Given the description of an element on the screen output the (x, y) to click on. 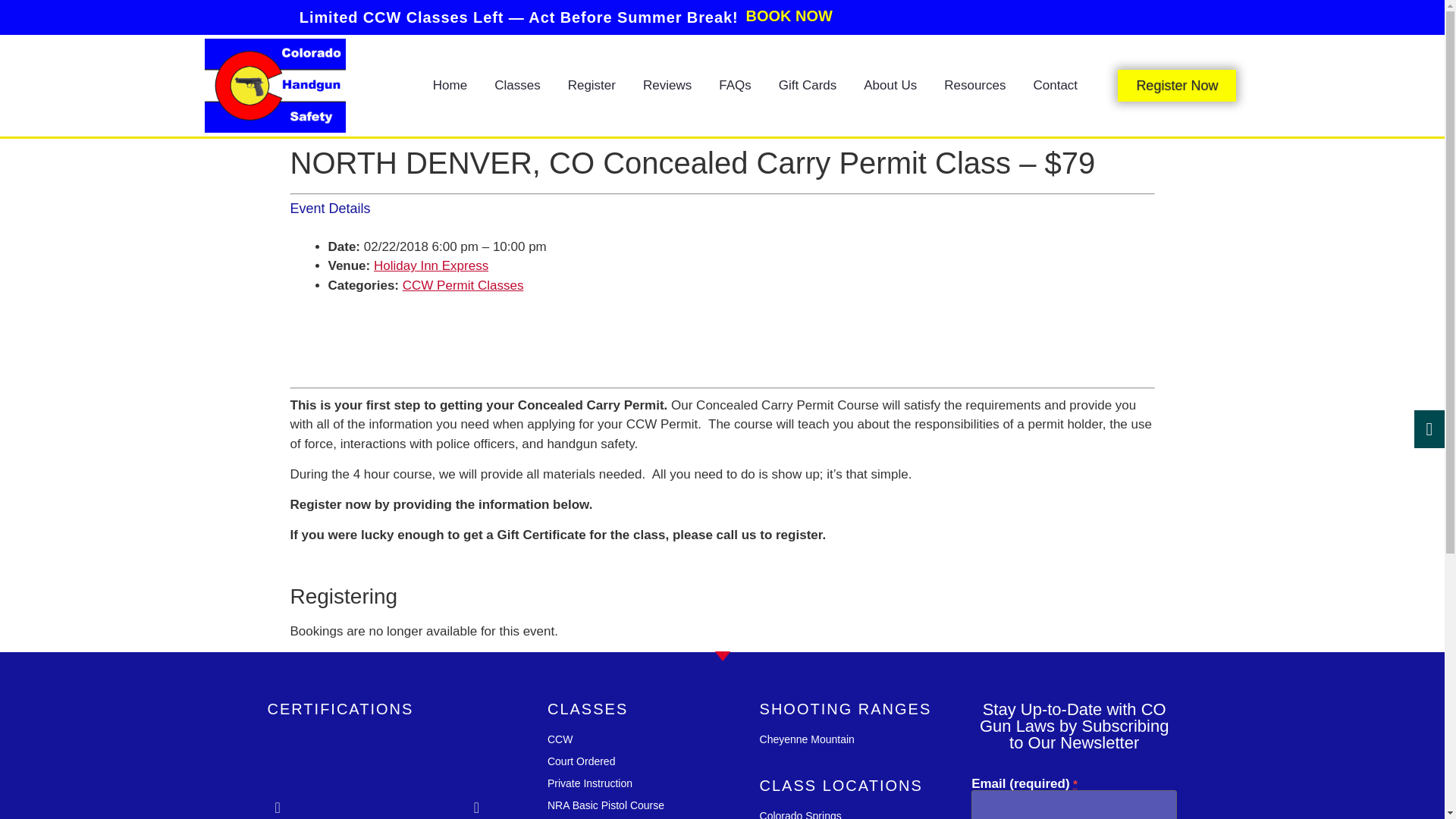
FAQs (734, 85)
Home (449, 85)
BOOK NOW (788, 15)
About Us (890, 85)
Contact (1054, 85)
Reviews (666, 85)
Register (591, 85)
CCW Permit Classes (463, 285)
Register Now (1177, 85)
Gift Cards (807, 85)
Classes (516, 85)
Resources (974, 85)
CCW (653, 739)
Holiday Inn Express (430, 265)
